Given the description of an element on the screen output the (x, y) to click on. 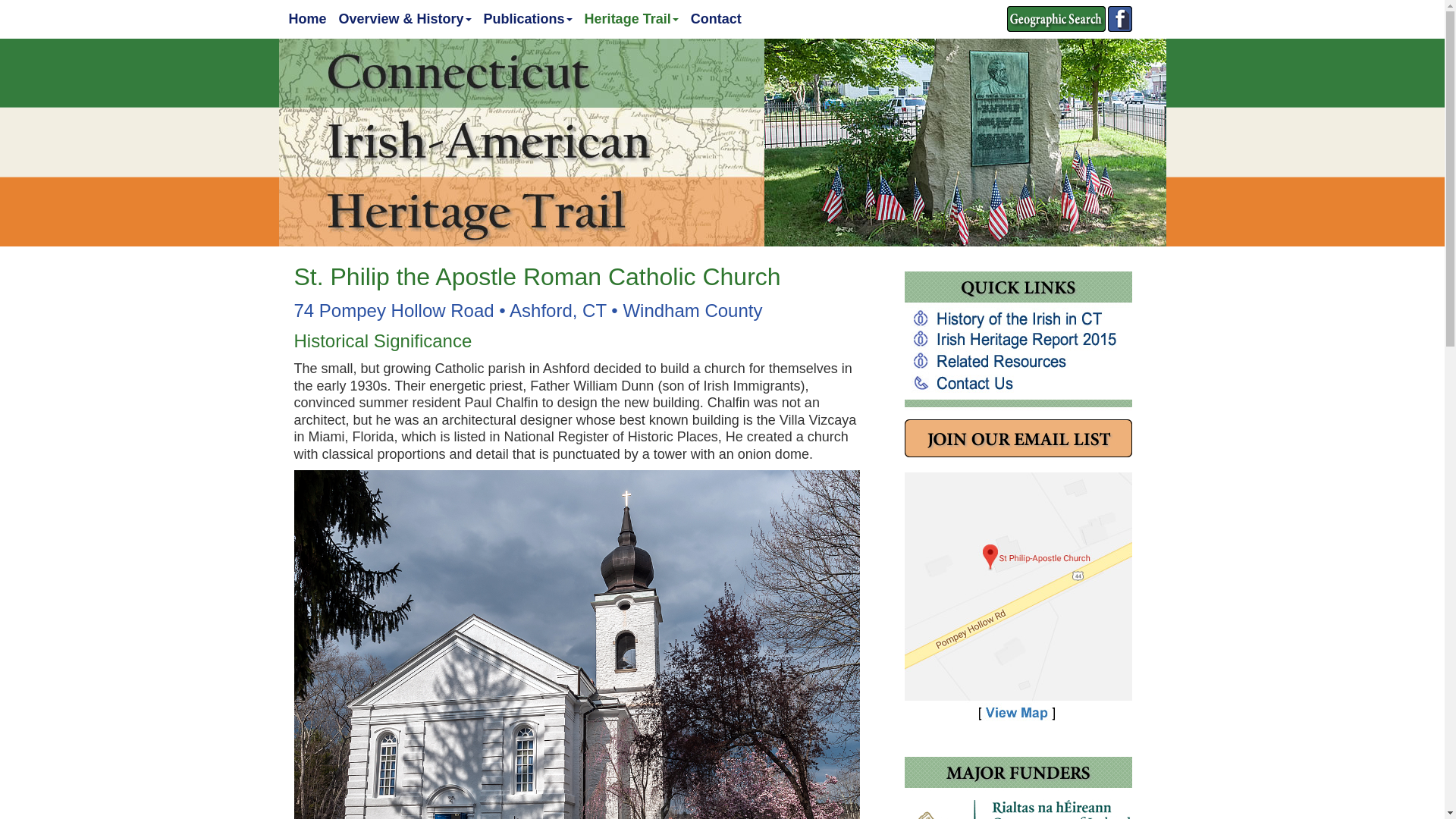
Publications (527, 18)
Heritage Trail (631, 18)
Contact (716, 18)
Home (306, 18)
